Given the description of an element on the screen output the (x, y) to click on. 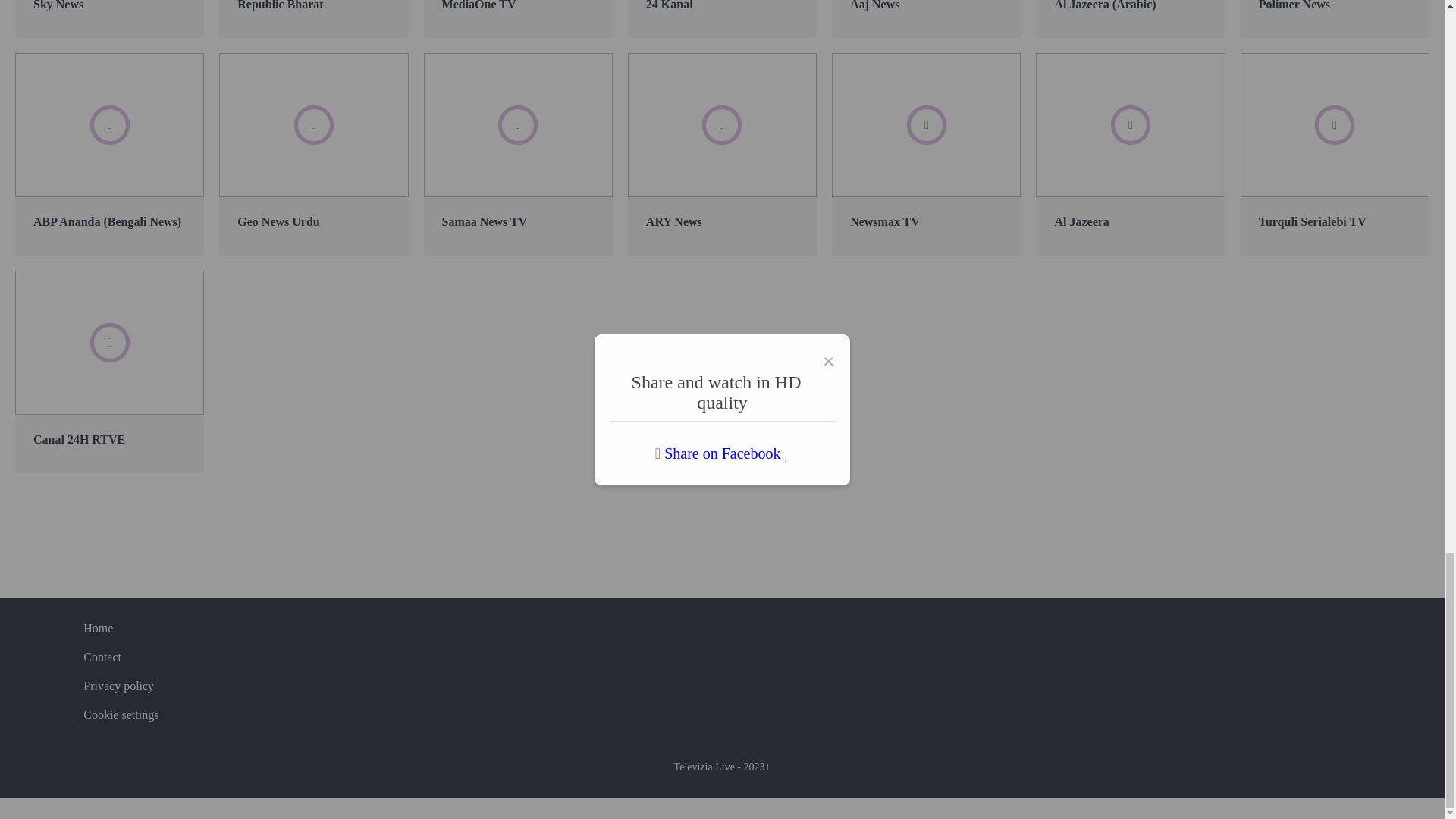
Contact (101, 657)
Al Jazeera (1129, 154)
Polimer News (1334, 18)
Samaa News TV (517, 154)
Geo News Urdu (313, 154)
Cookie settings (120, 714)
Canal 24H RTVE (108, 372)
ARY News (721, 154)
24 Kanal (721, 18)
MediaOne TV (517, 18)
Sky News (108, 18)
Aaj News (925, 18)
Privacy policy (118, 685)
Home (97, 628)
Newsmax TV (925, 154)
